Given the description of an element on the screen output the (x, y) to click on. 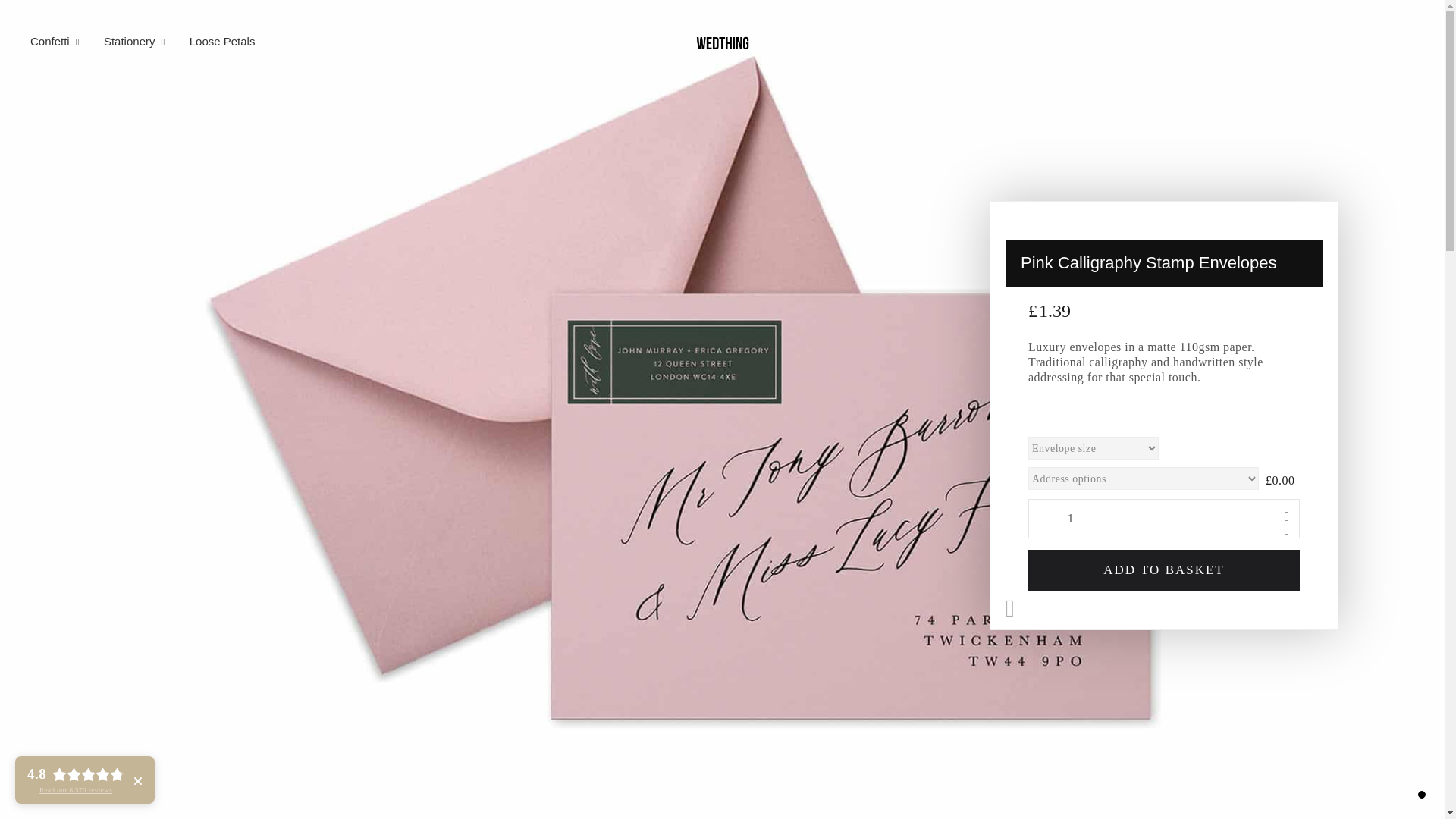
Qty (1067, 518)
Confetti (61, 40)
Wedthing (722, 41)
Stationery (136, 40)
Loose Petals (142, 41)
1 (219, 40)
